Given the description of an element on the screen output the (x, y) to click on. 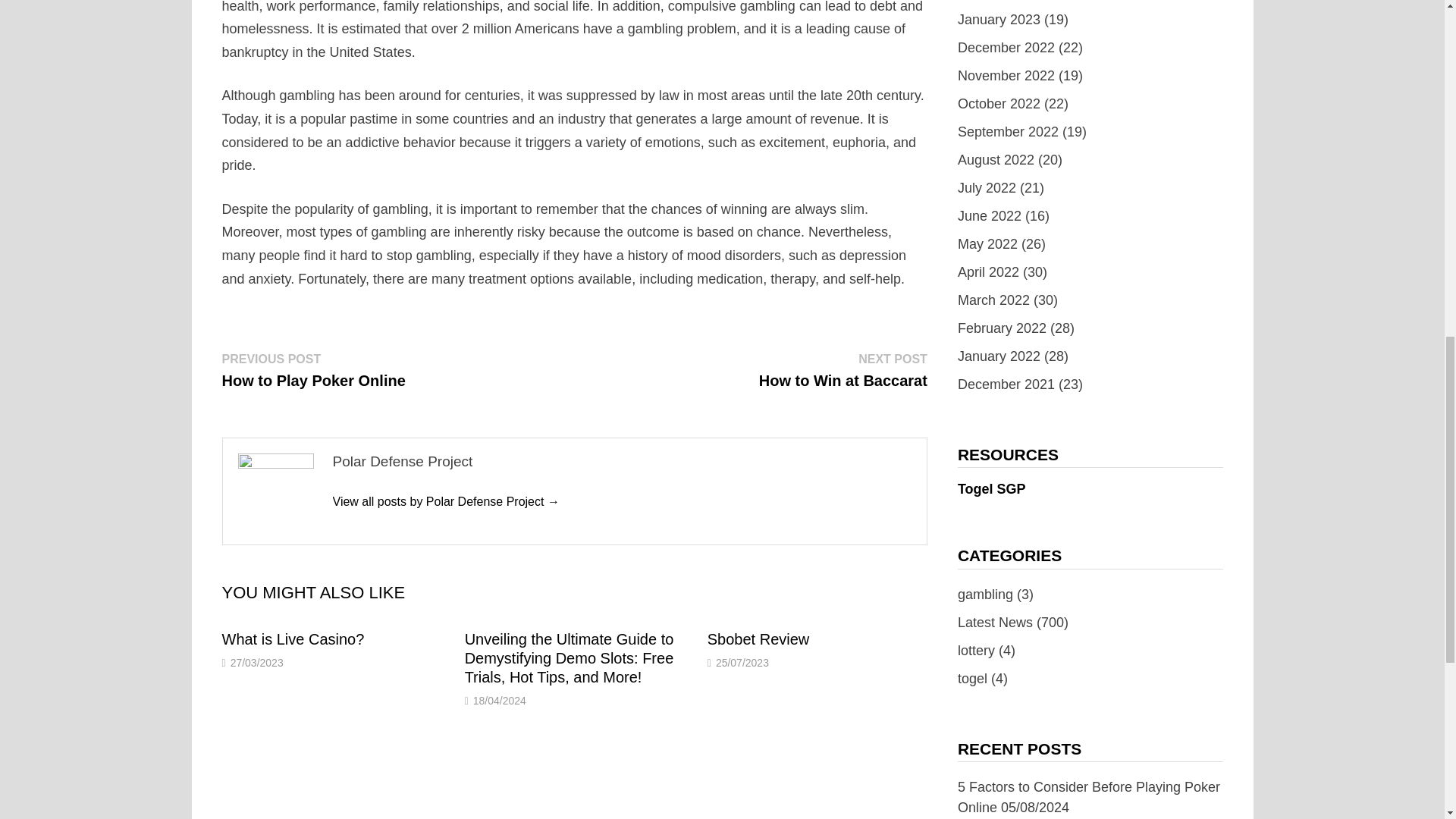
What is Live Casino? (292, 638)
Polar Defense Project (445, 501)
Sbobet Review (758, 638)
Sbobet Review (312, 370)
What is Live Casino? (758, 638)
